Given the description of an element on the screen output the (x, y) to click on. 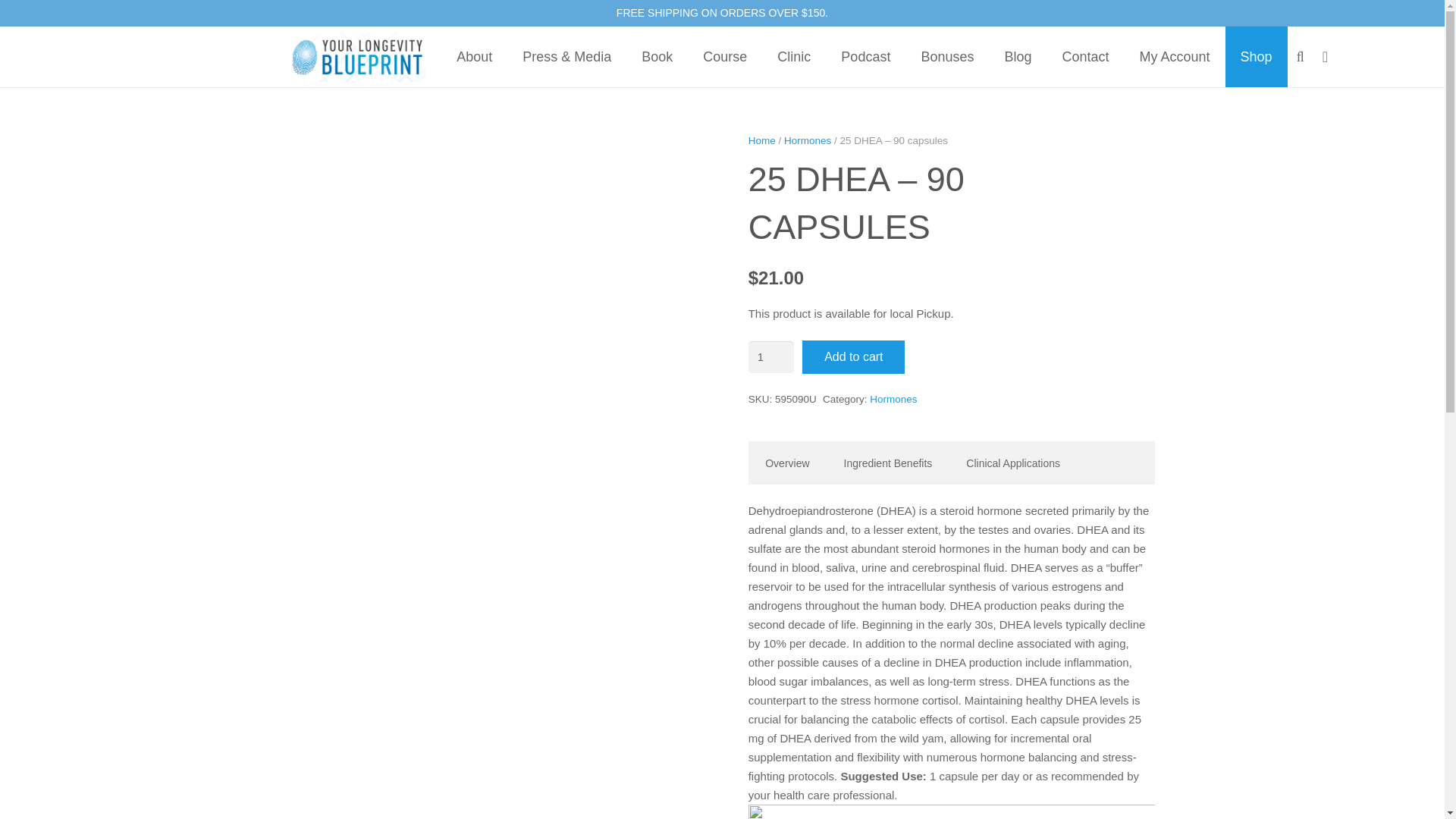
Podcast (865, 56)
Blog (1017, 56)
My Account (1174, 56)
Home (762, 140)
Course (724, 56)
Ingredient Benefits (888, 463)
Bonuses (946, 56)
Book (656, 56)
About (473, 56)
Hormones (807, 140)
Clinic (793, 56)
Overview (787, 463)
Hormones (893, 398)
Contact (1085, 56)
Add to cart (853, 356)
